Given the description of an element on the screen output the (x, y) to click on. 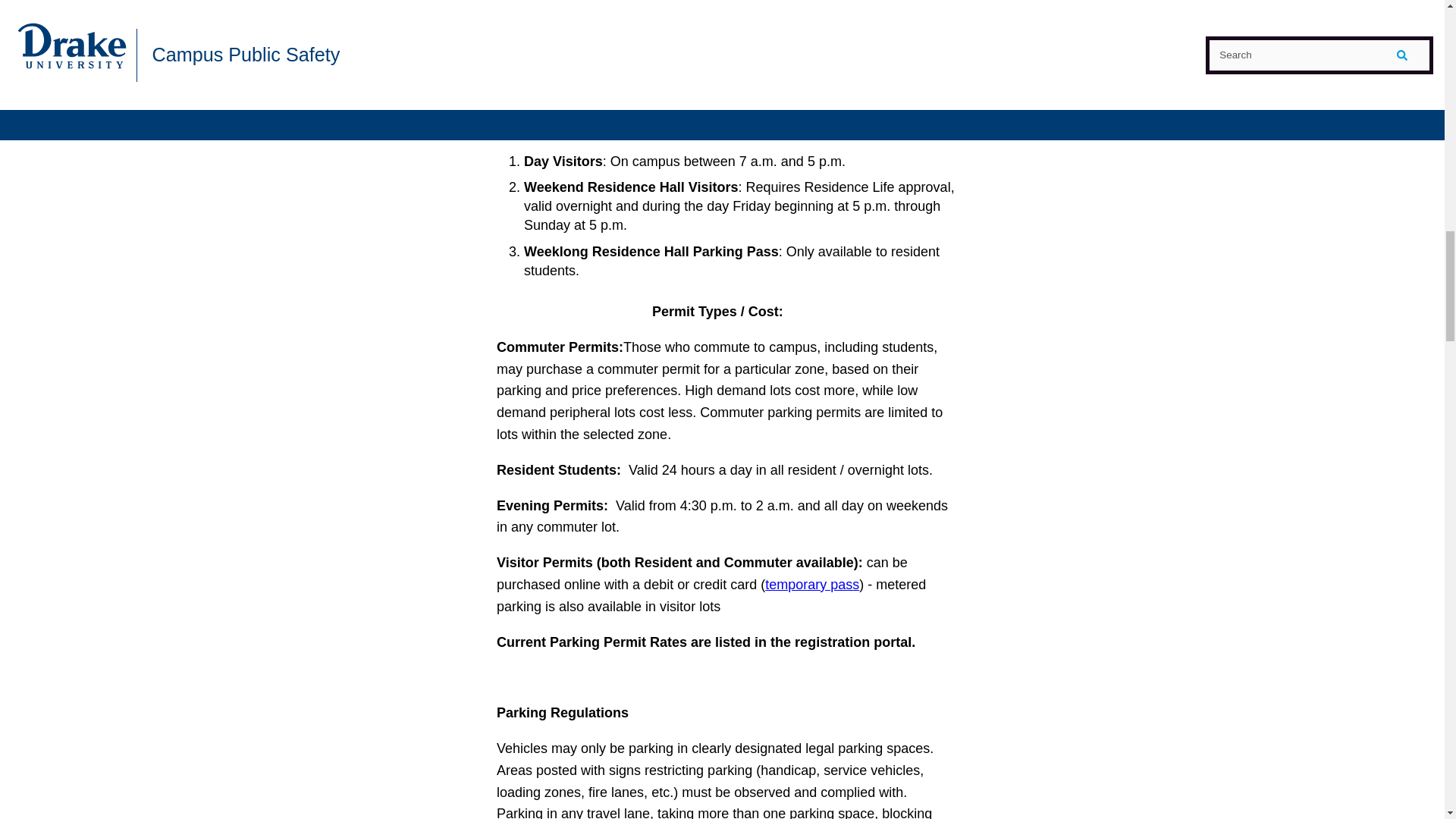
temporary pass (812, 584)
